Given the description of an element on the screen output the (x, y) to click on. 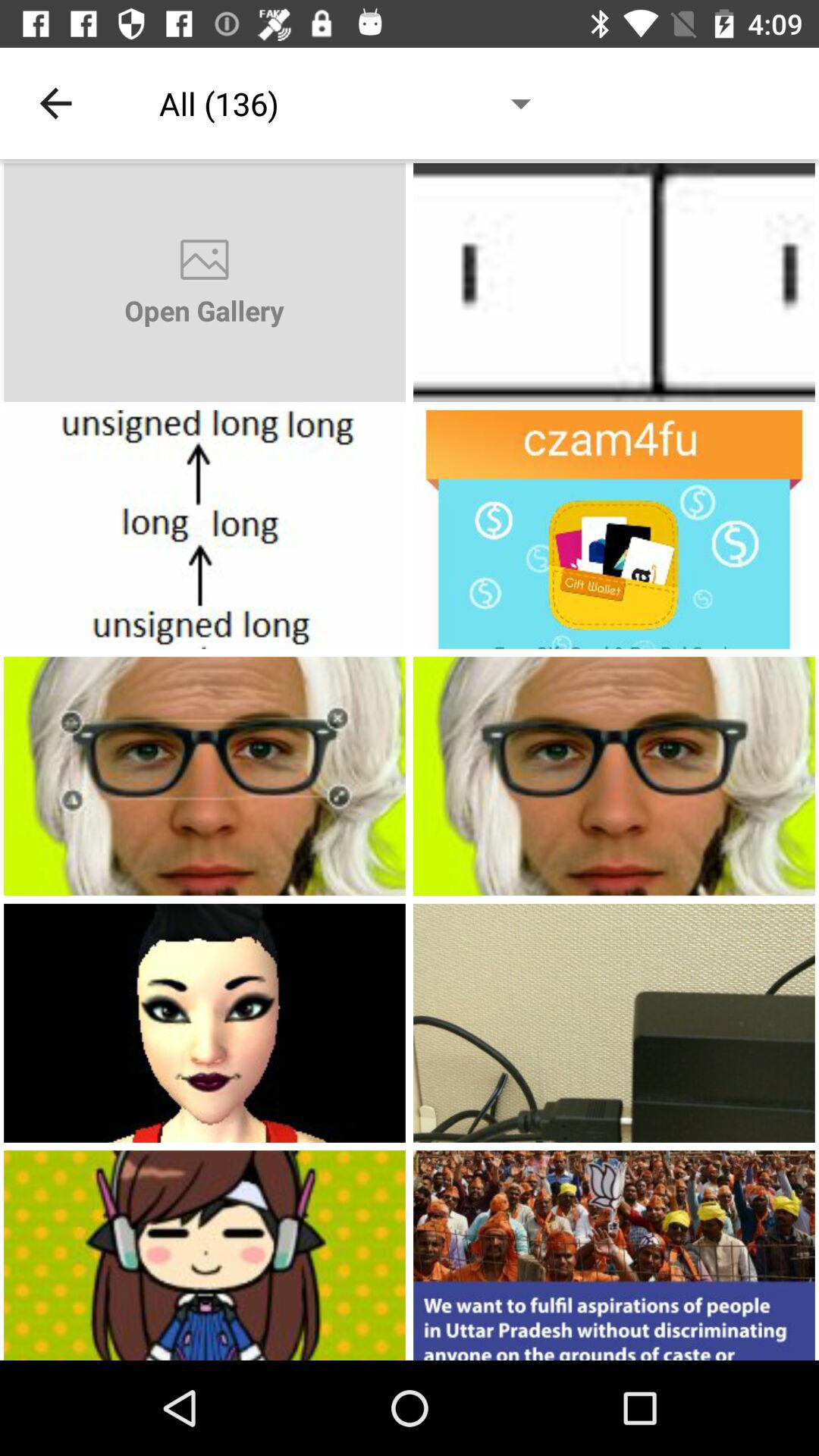
opoen images (614, 282)
